Given the description of an element on the screen output the (x, y) to click on. 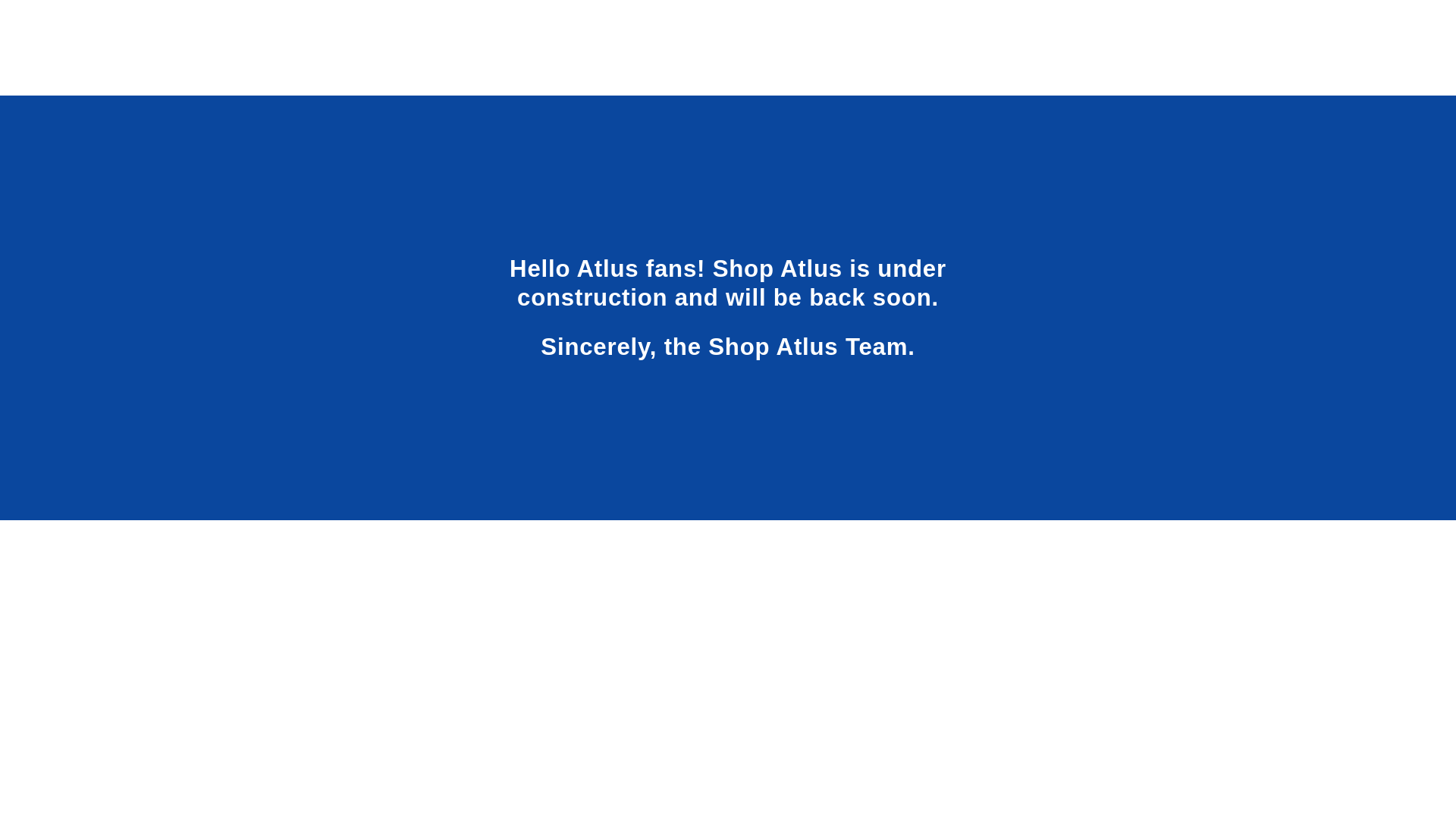
Skip to content (45, 17)
Log in here (793, 779)
